Given the description of an element on the screen output the (x, y) to click on. 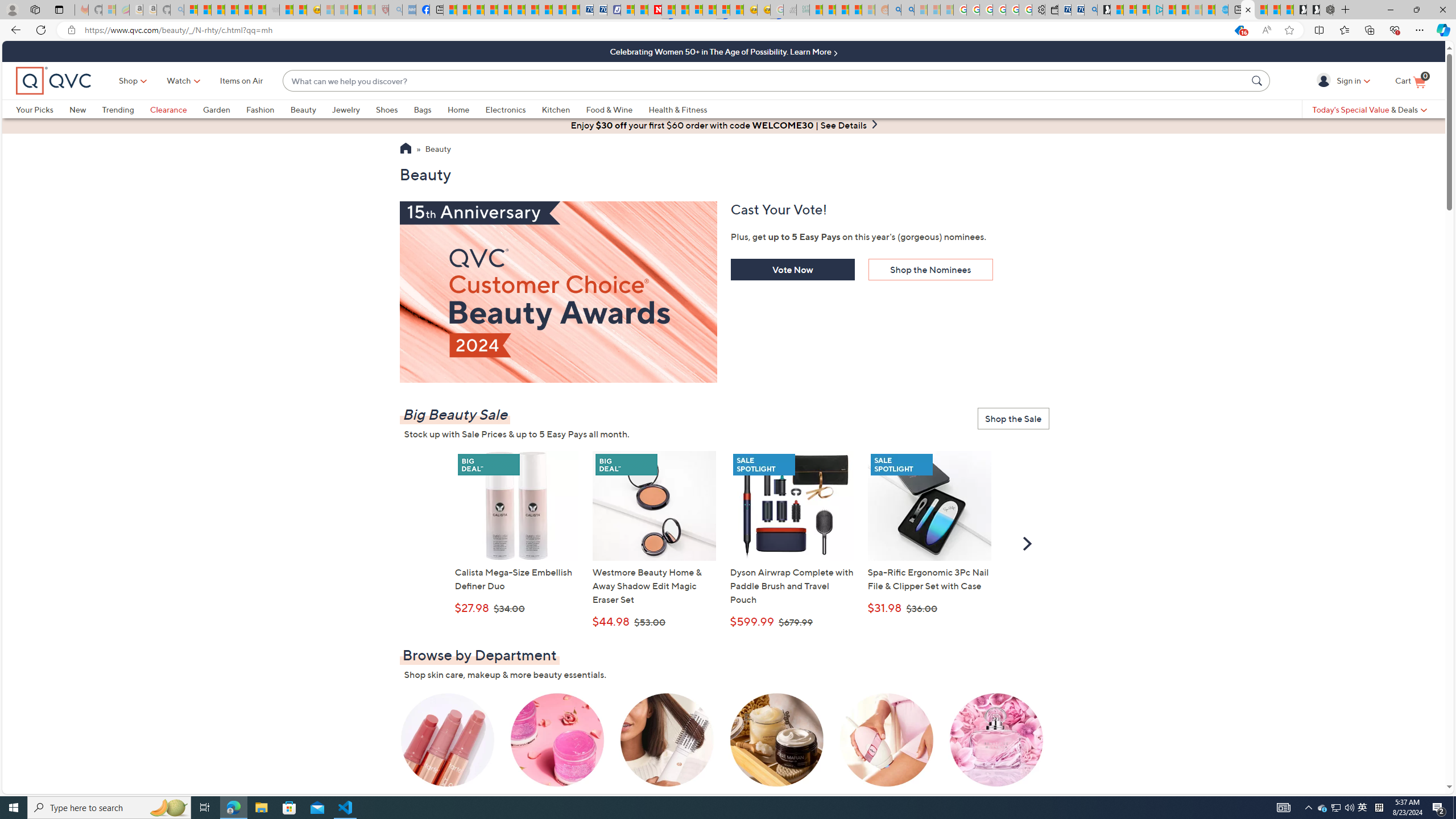
Beauty (438, 149)
Bing Real Estate - Home sales and rental listings (1090, 9)
Climate Damage Becomes Too Severe To Reverse (490, 9)
Vote Now (792, 269)
New (76, 109)
Scroll Right (1027, 543)
Skin Care (557, 748)
Garden (224, 109)
